Given the description of an element on the screen output the (x, y) to click on. 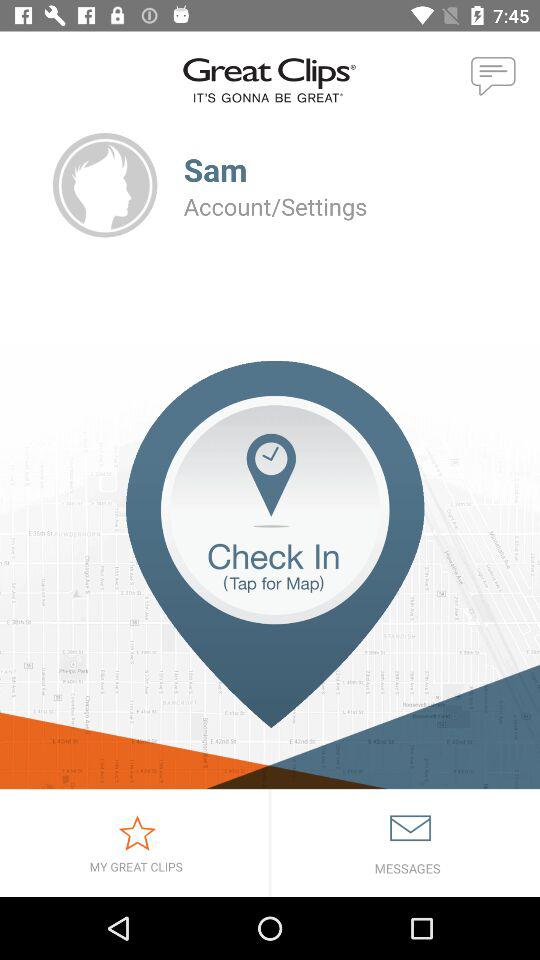
click the icon at the bottom right corner (405, 842)
